Given the description of an element on the screen output the (x, y) to click on. 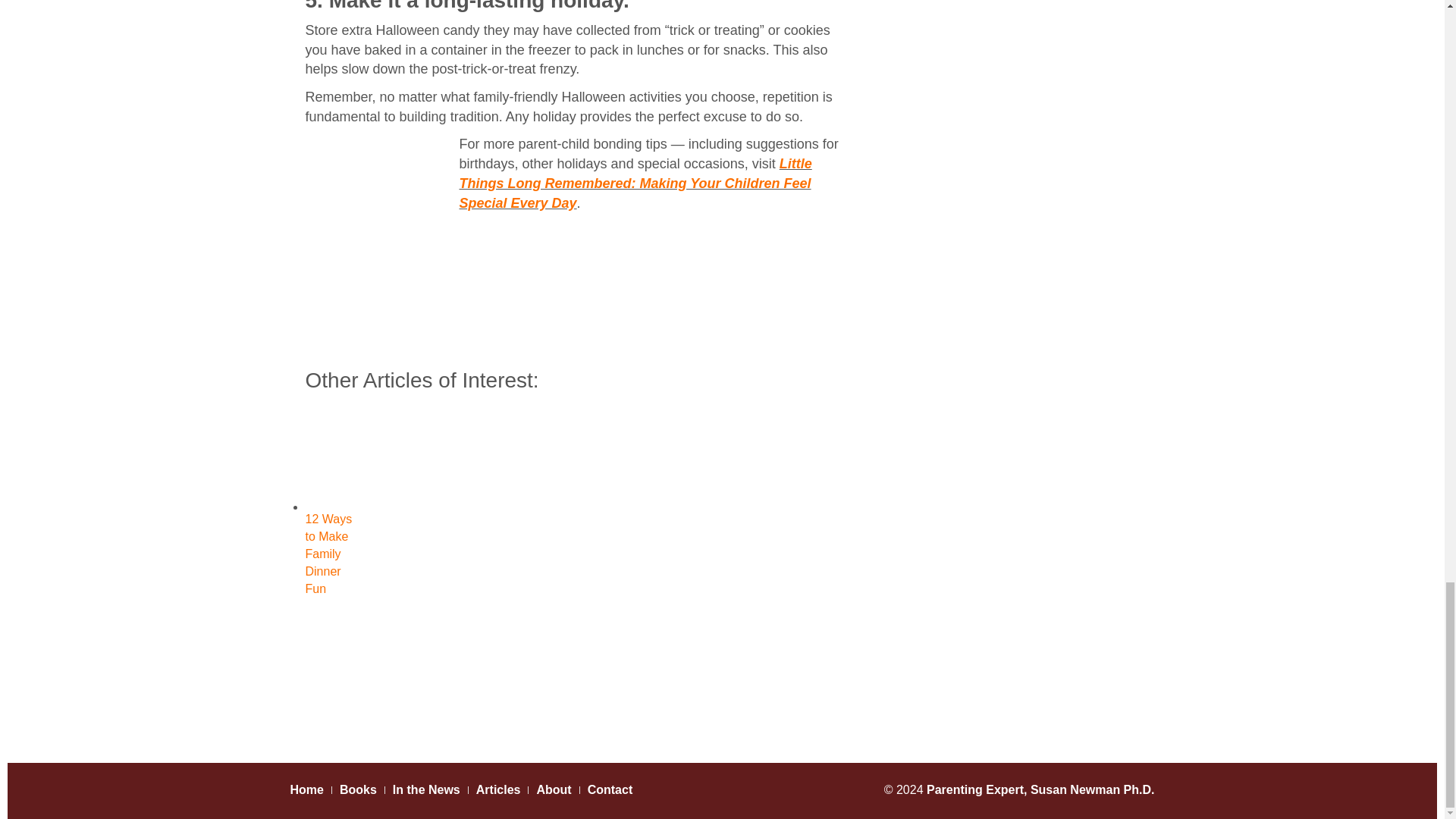
12 Ways to Make Family Dinner Fun (331, 497)
